Given the description of an element on the screen output the (x, y) to click on. 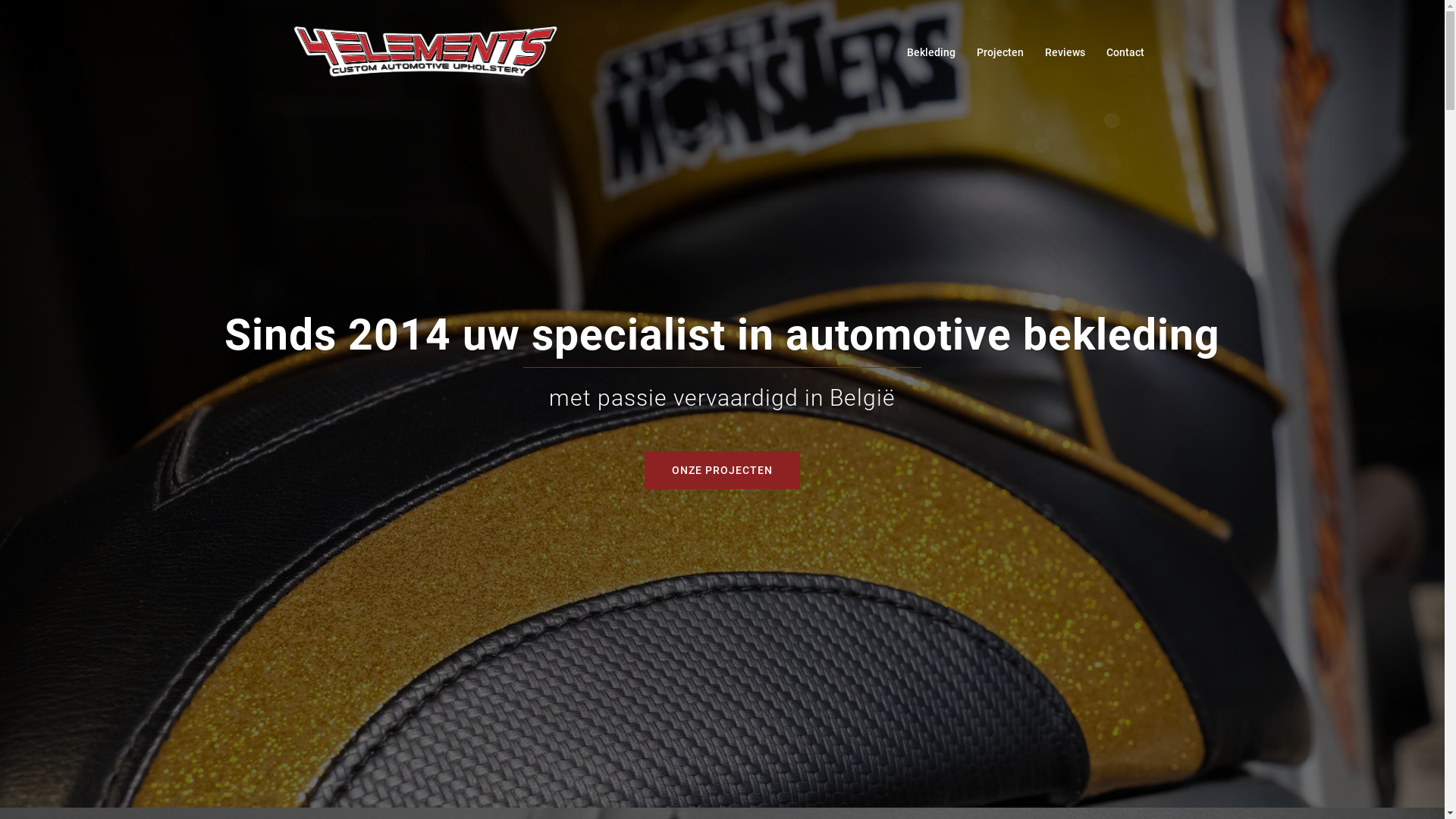
Bekleding Element type: text (930, 52)
ONZE PROJECTEN Element type: text (722, 469)
Projecten Element type: text (999, 52)
Reviews Element type: text (1064, 52)
4Elements Bekleding Element type: hover (424, 51)
Contact Element type: text (1124, 52)
